Given the description of an element on the screen output the (x, y) to click on. 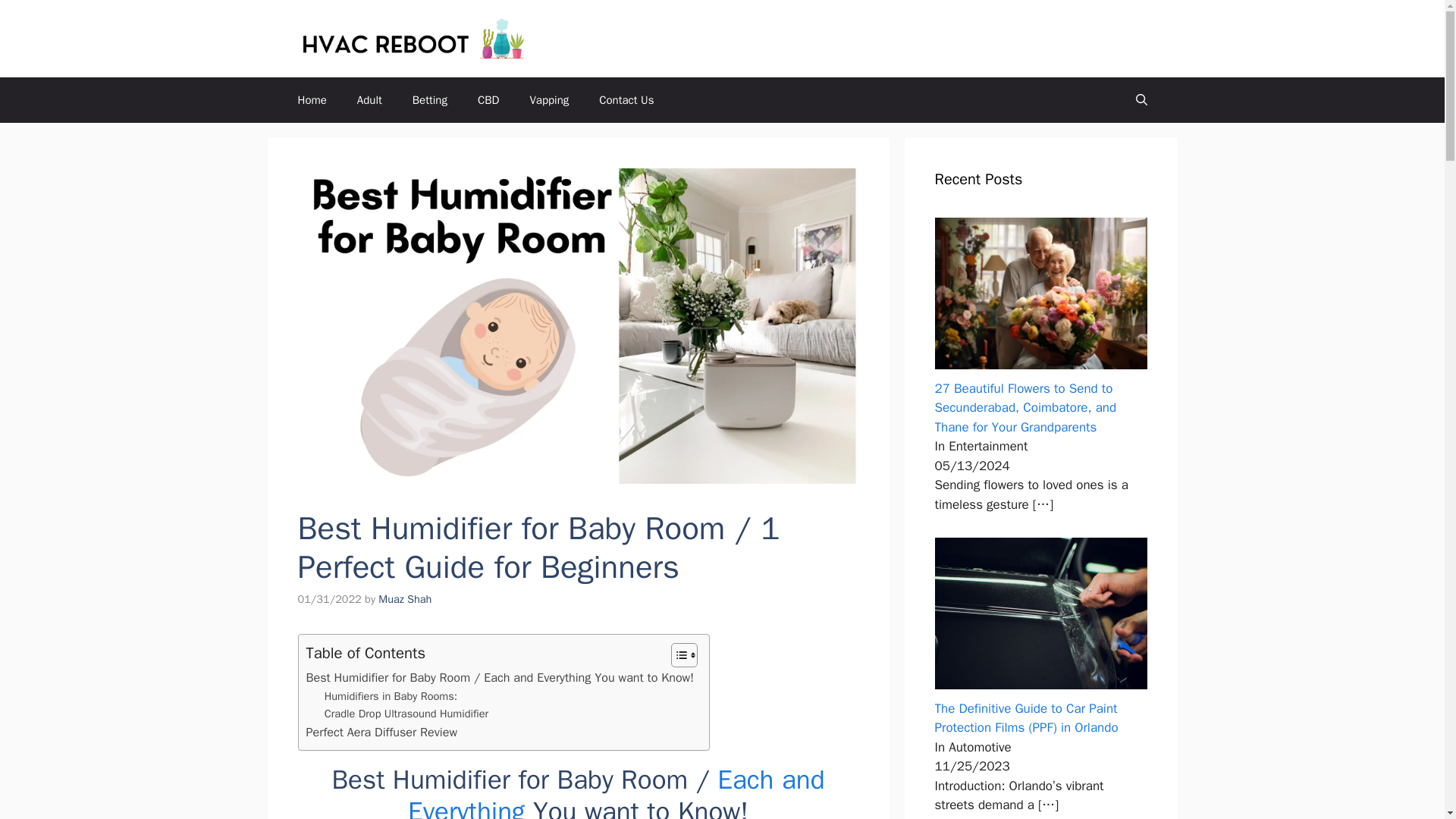
Vapping (548, 99)
Cradle Drop Ultrasound Humidifier (406, 713)
Humidifiers in Baby Rooms: (390, 696)
Home (311, 99)
Humidifiers in Baby Rooms: (390, 696)
Perfect Aera Diffuser Review (381, 732)
View all posts by Muaz Shah (404, 599)
Perfect Aera Diffuser Review (381, 732)
Adult (369, 99)
Cradle Drop Ultrasound Humidifier (406, 713)
Contact Us (625, 99)
Muaz Shah (404, 599)
CBD (488, 99)
Betting (430, 99)
